Given the description of an element on the screen output the (x, y) to click on. 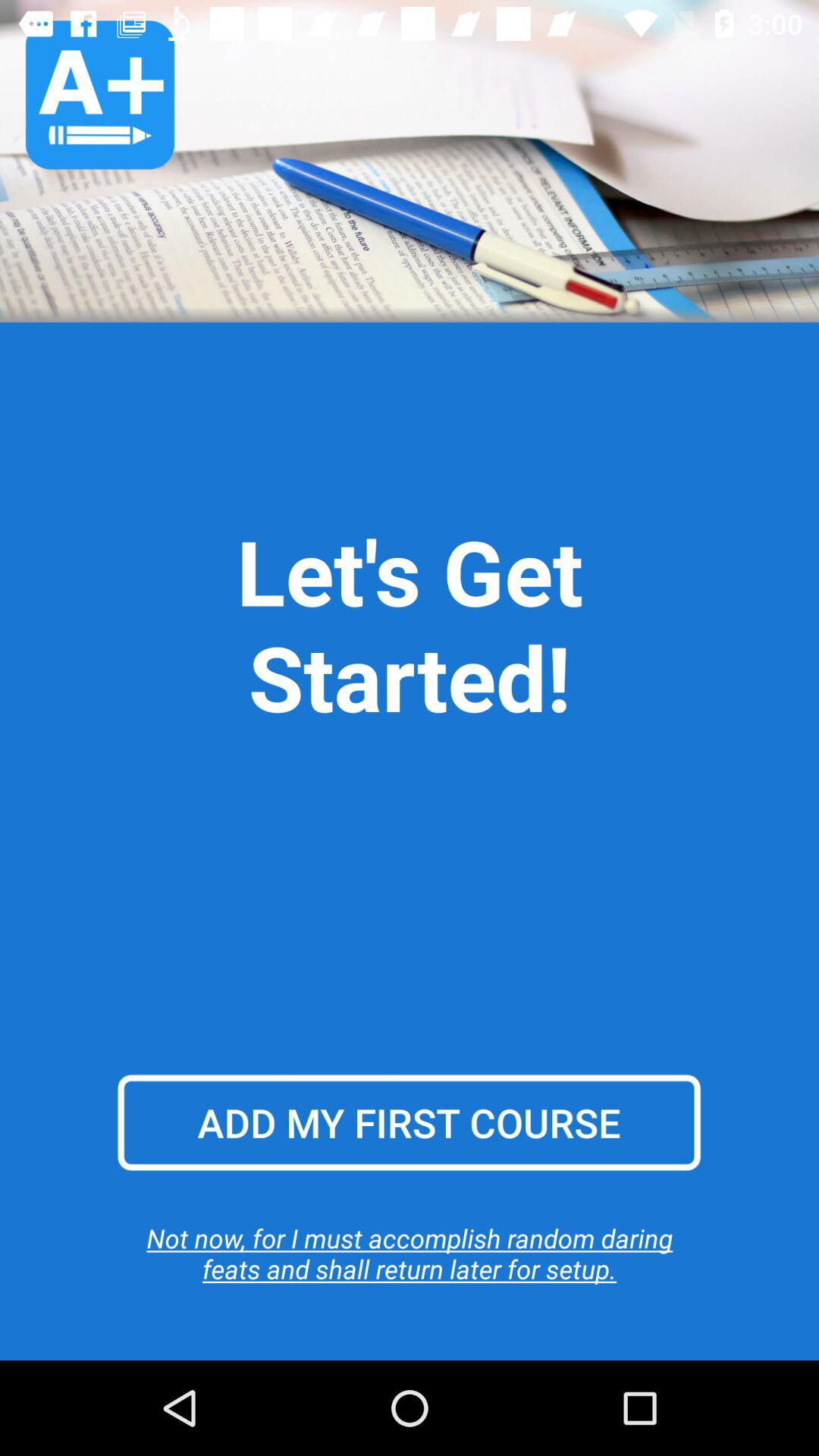
turn on add my first item (408, 1122)
